Given the description of an element on the screen output the (x, y) to click on. 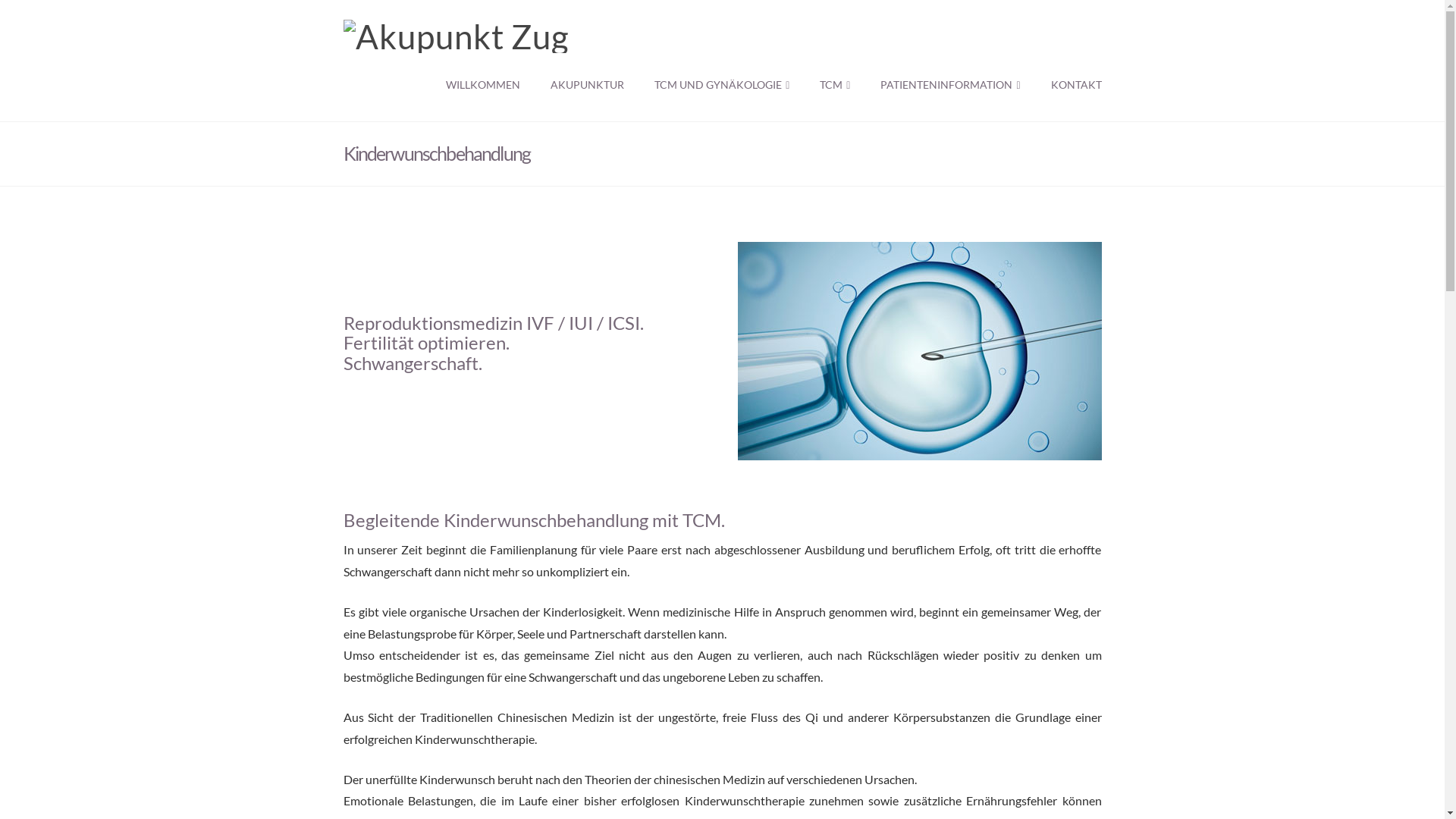
PATIENTENINFORMATION Element type: text (950, 87)
WILLKOMMEN Element type: text (482, 87)
AKUPUNKTUR Element type: text (587, 87)
KONTAKT Element type: text (1068, 87)
TCM Element type: text (834, 87)
